Given the description of an element on the screen output the (x, y) to click on. 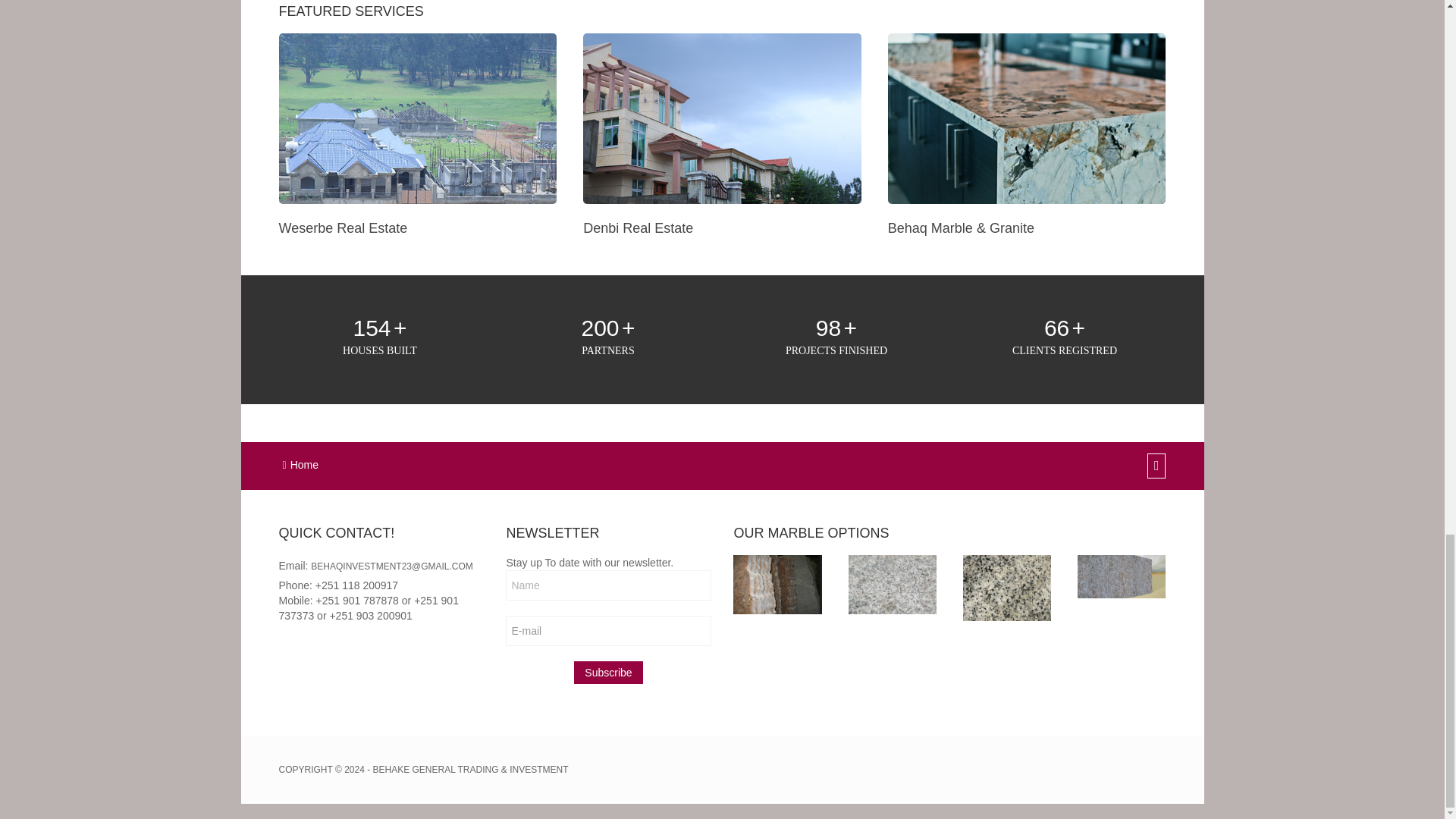
Name (607, 585)
Subscribe (607, 671)
Subscribe (607, 671)
